Given the description of an element on the screen output the (x, y) to click on. 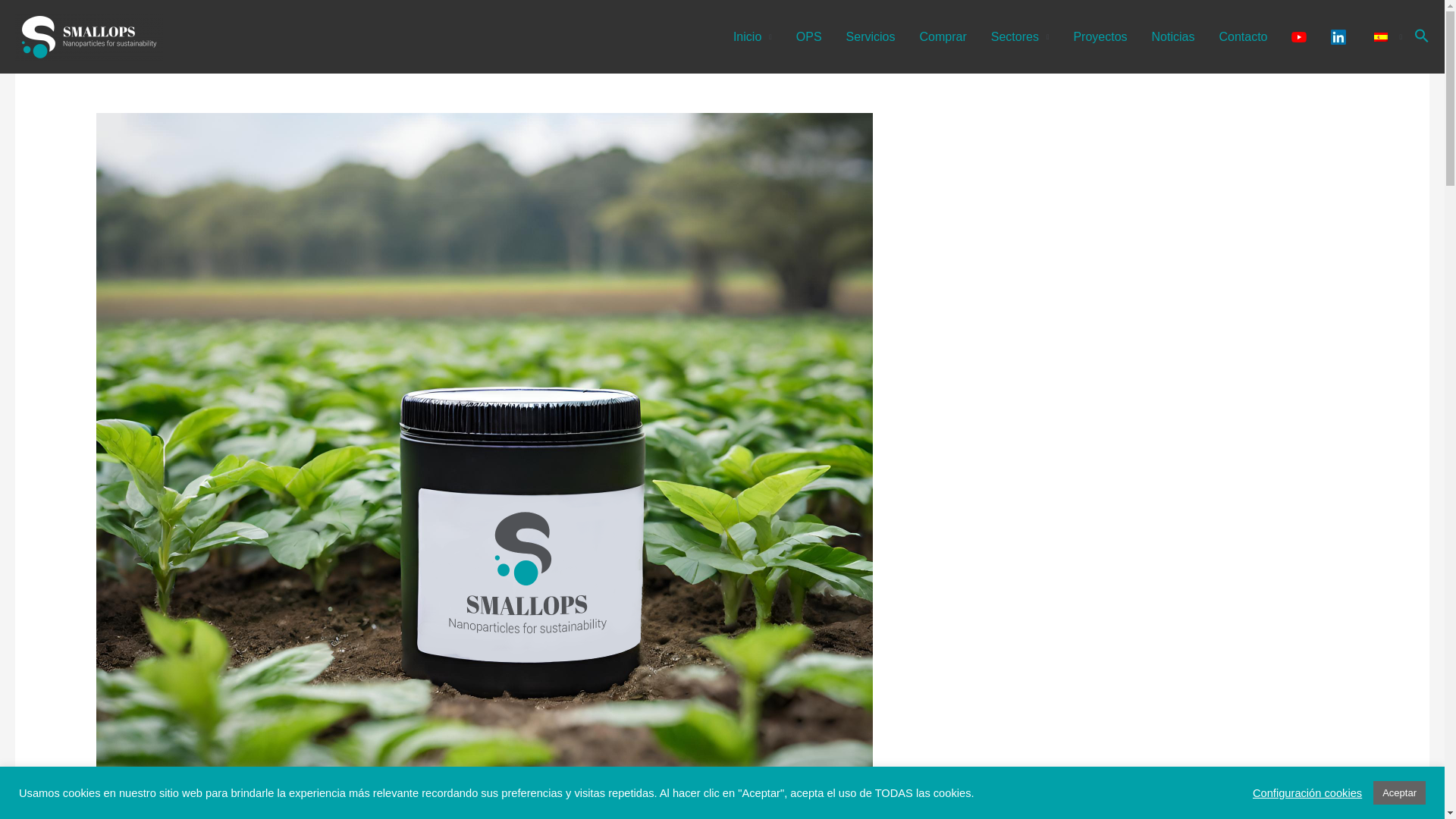
Noticias (1173, 36)
Comprar (942, 36)
Sectores (1019, 36)
Servicios (870, 36)
Proyectos (1099, 36)
Spanish (1380, 35)
OPS (809, 36)
Inicio (752, 36)
Contacto (1243, 36)
